Given the description of an element on the screen output the (x, y) to click on. 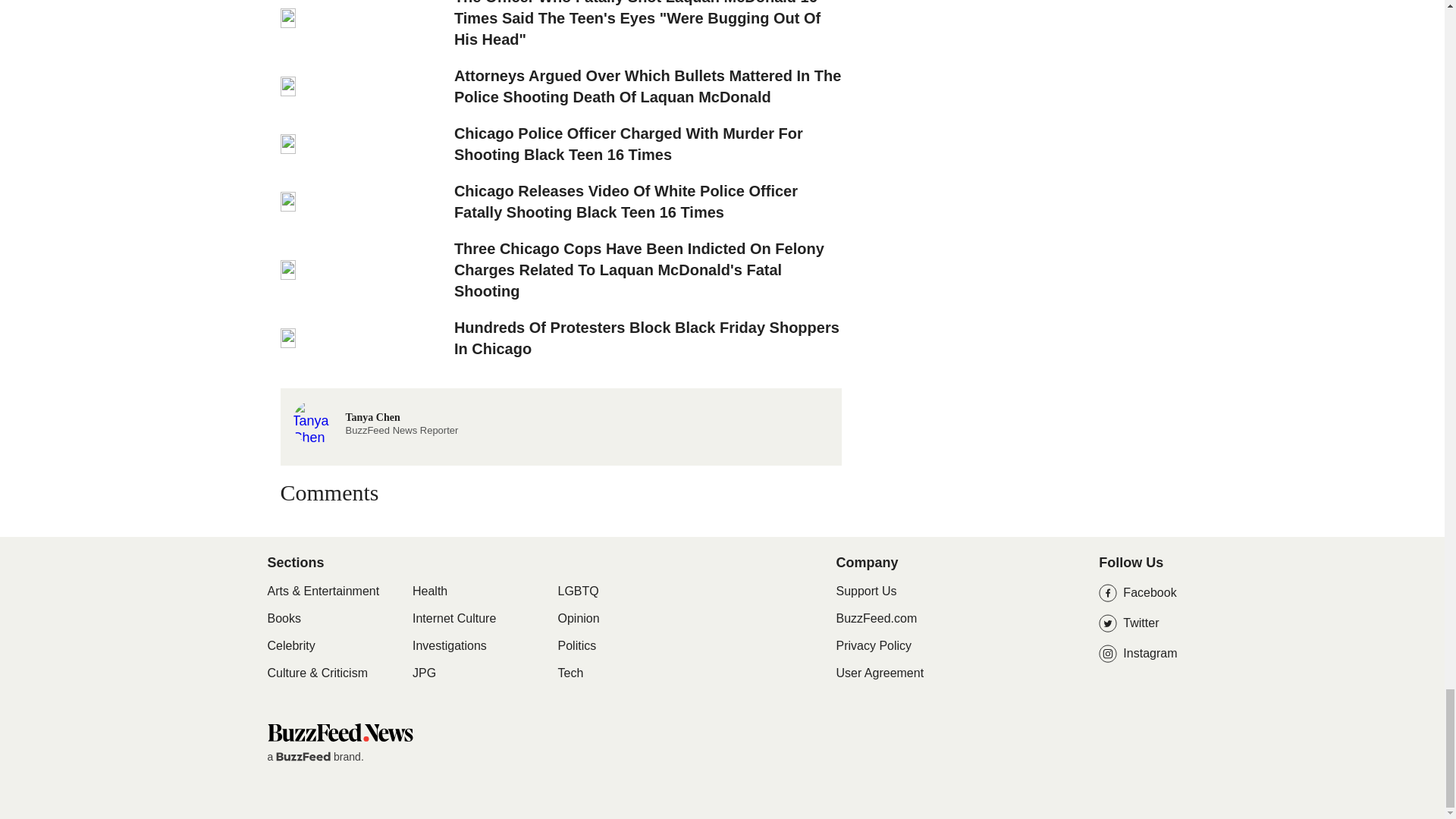
BuzzFeed (303, 756)
BuzzFeed News Home (339, 732)
